Given the description of an element on the screen output the (x, y) to click on. 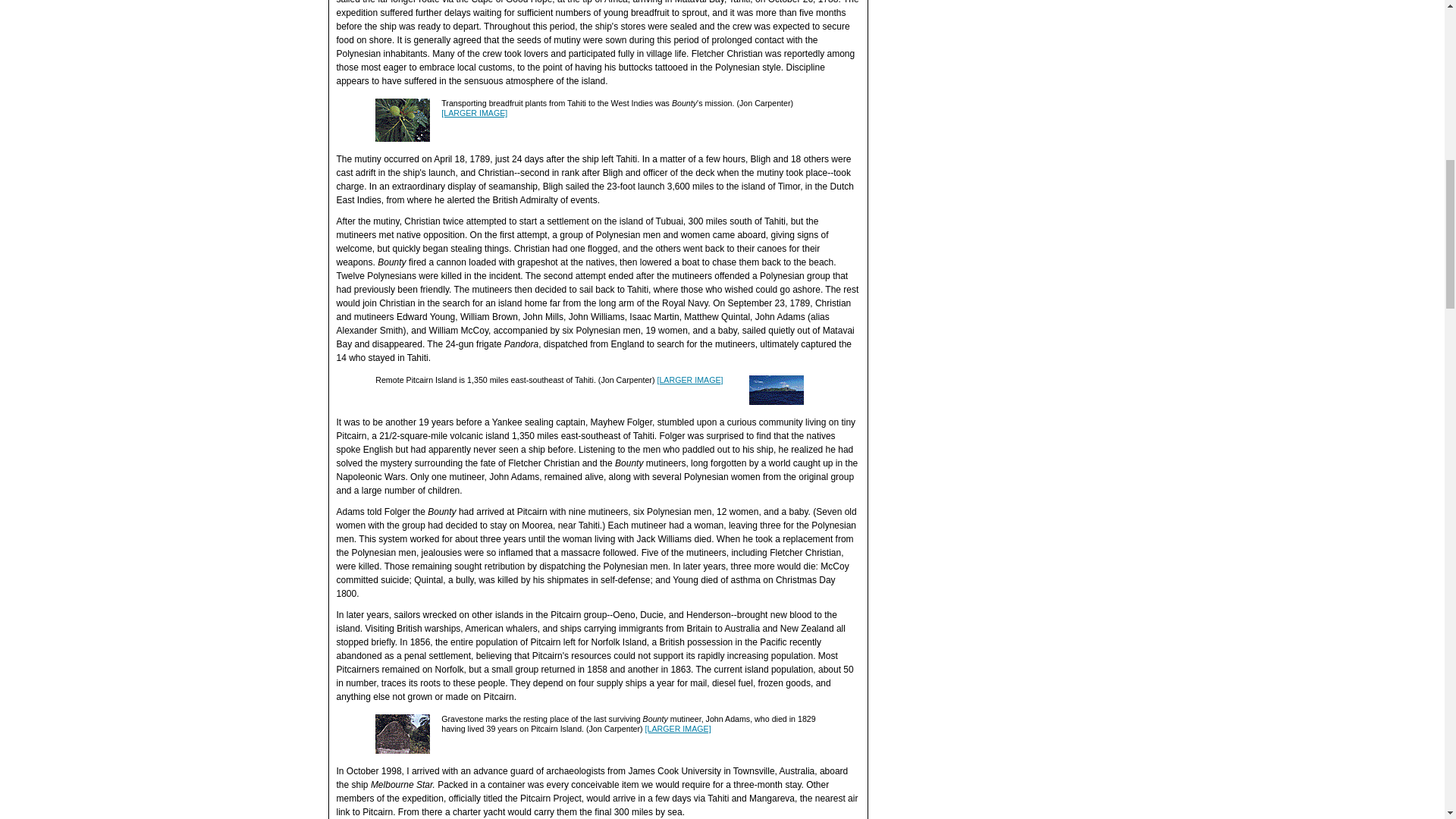
3rd party ad content (1002, 153)
3rd party ad content (1002, 562)
3rd party ad content (1002, 357)
3rd party ad content (1002, 21)
